Given the description of an element on the screen output the (x, y) to click on. 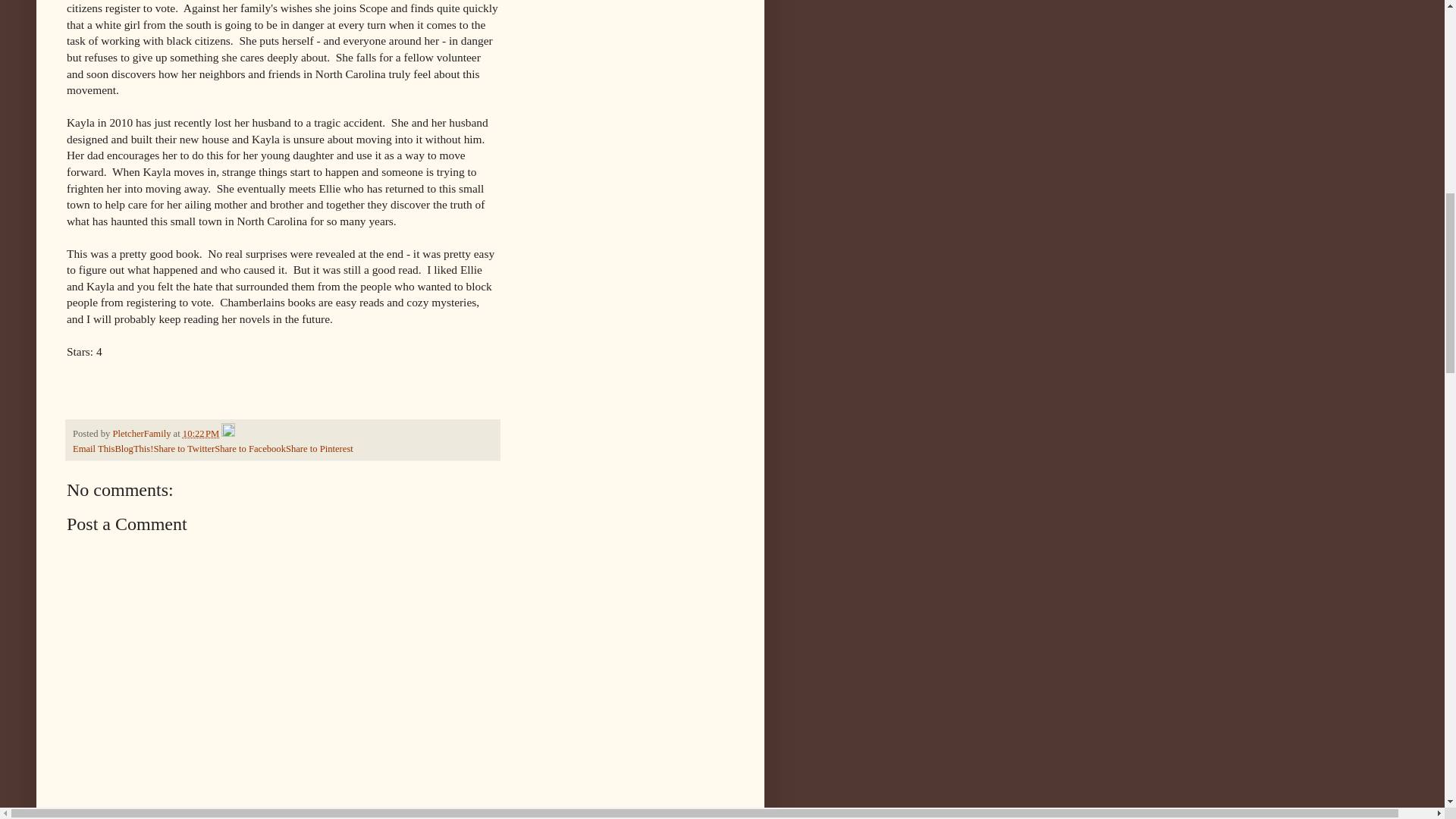
Share to Facebook (249, 448)
Share to Twitter (183, 448)
Share to Pinterest (319, 448)
author profile (142, 433)
Share to Twitter (183, 448)
Share to Pinterest (319, 448)
BlogThis! (133, 448)
Share to Facebook (249, 448)
BlogThis! (133, 448)
PletcherFamily (142, 433)
permanent link (201, 433)
Edit Post (227, 433)
Email This (93, 448)
Email This (93, 448)
